Given the description of an element on the screen output the (x, y) to click on. 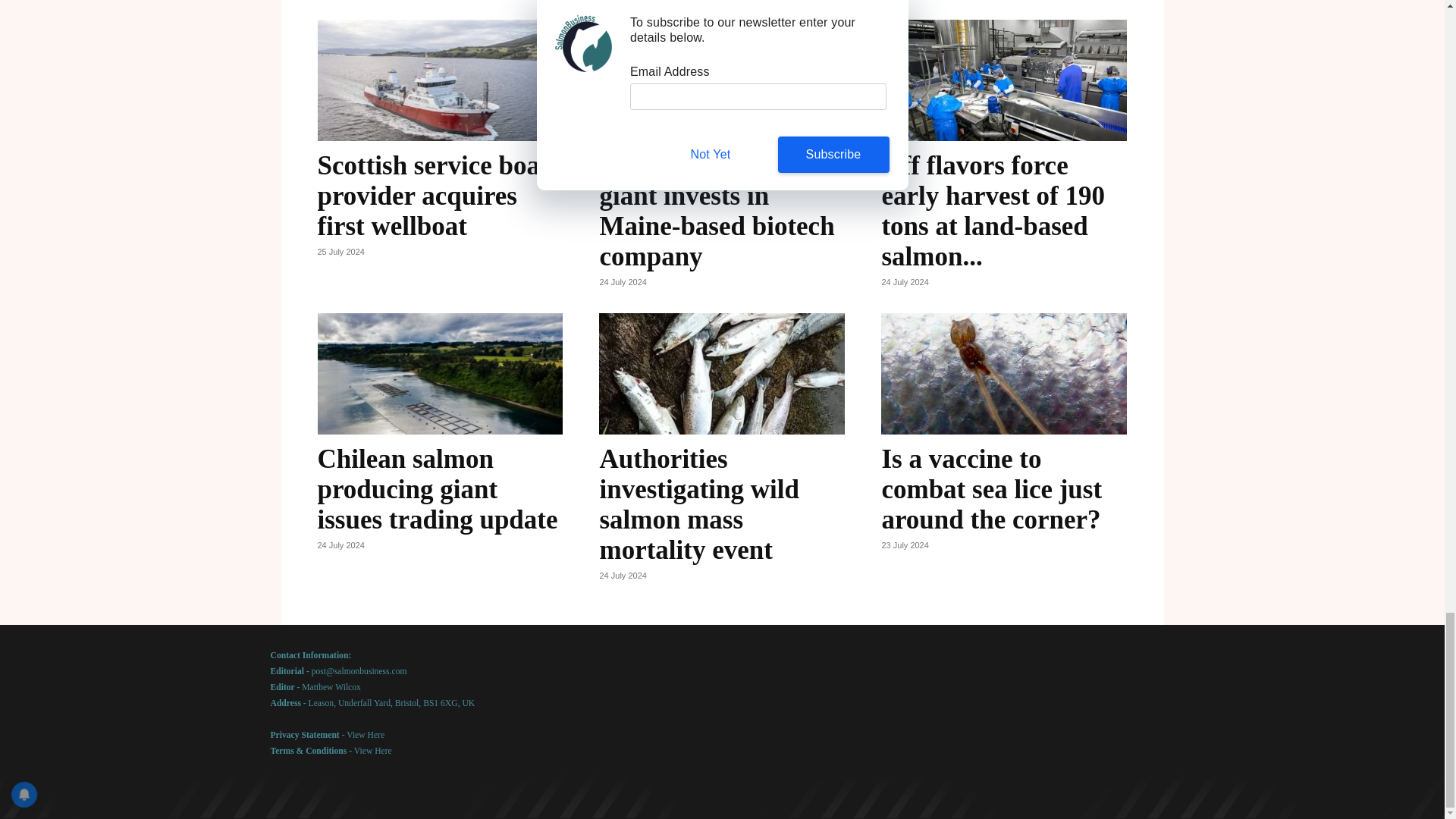
Scottish service boat provider acquires first wellboat (432, 195)
Scottish service boat provider acquires first wellboat (439, 79)
Scottish service boat provider acquires first wellboat (432, 195)
